Given the description of an element on the screen output the (x, y) to click on. 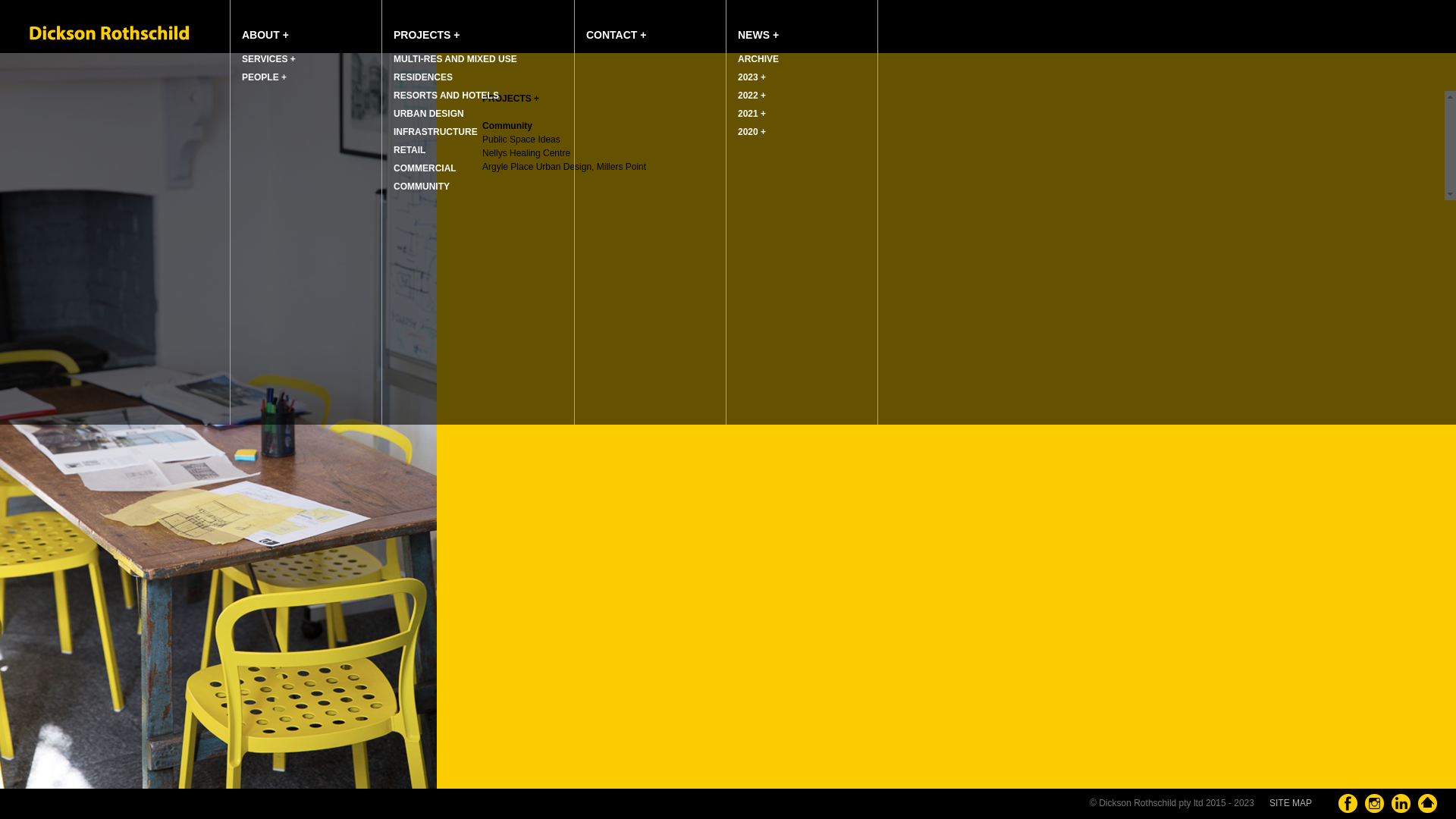
MULTI-RES AND MIXED USE Element type: text (478, 59)
2022 + Element type: text (801, 95)
COMMUNITY Element type: text (478, 186)
COMMERCIAL Element type: text (478, 168)
PEOPLE + Element type: text (305, 77)
SITE MAP Element type: text (1290, 802)
PROJECTS + Element type: text (478, 25)
CONTACT + Element type: text (649, 25)
Argyle Place Urban Design, Millers Point Element type: text (564, 166)
2023 + Element type: text (801, 77)
RESIDENCES Element type: text (478, 77)
Public Space Ideas Element type: text (521, 139)
NEWS + Element type: text (801, 25)
2020 + Element type: text (801, 131)
ARCHIVE Element type: text (801, 59)
Nellys Healing Centre Element type: text (526, 152)
ABOUT + Element type: text (305, 25)
INFRASTRUCTURE Element type: text (478, 131)
SERVICES + Element type: text (305, 59)
Community Element type: text (507, 125)
2021 + Element type: text (801, 113)
RETAIL Element type: text (478, 150)
PROJECTS + Element type: text (510, 98)
URBAN DESIGN Element type: text (478, 113)
RESORTS AND HOTELS Element type: text (478, 95)
